Given the description of an element on the screen output the (x, y) to click on. 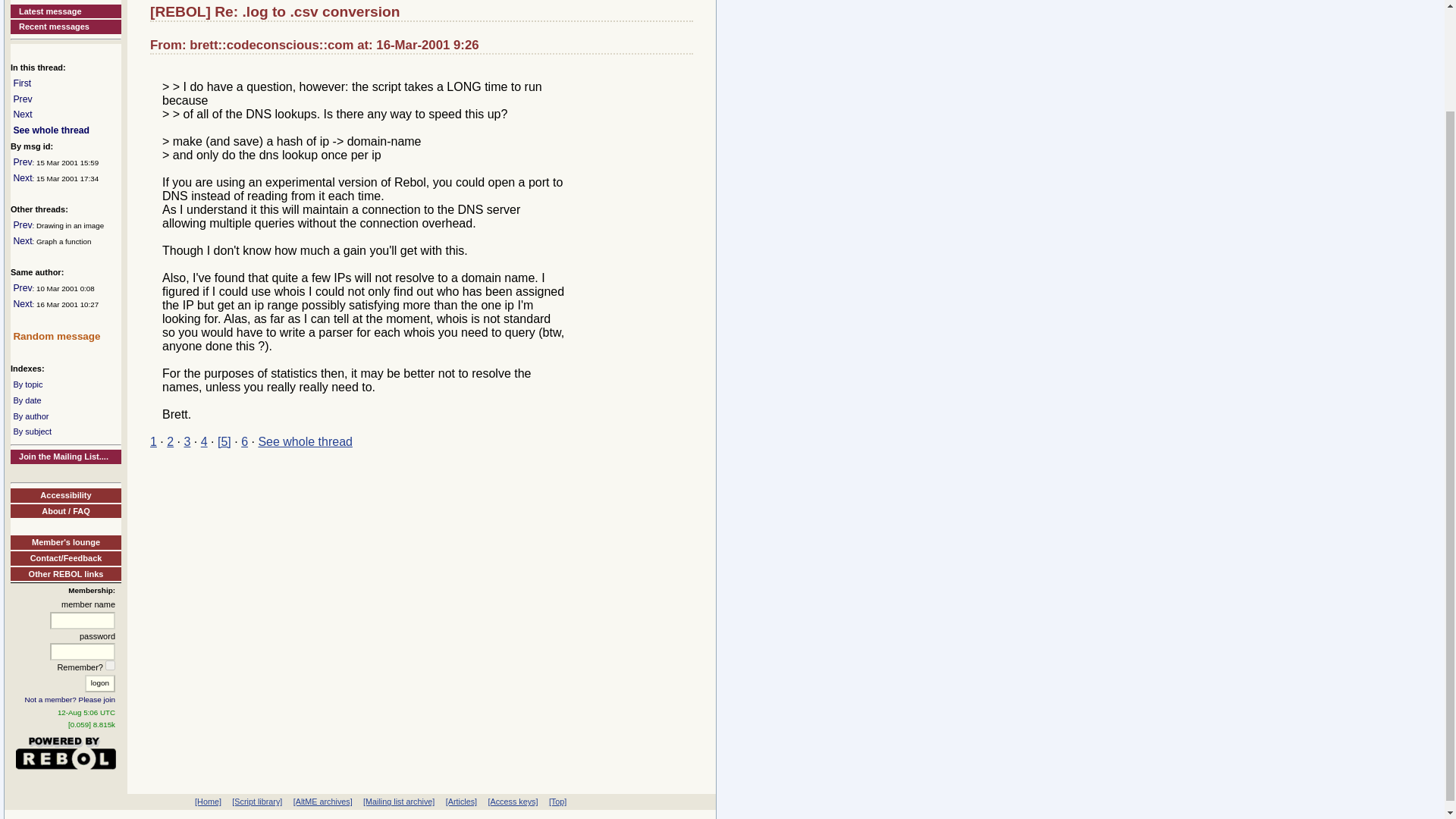
Next (22, 177)
Prev (22, 225)
Prev (22, 287)
logon (99, 683)
Next (22, 113)
Accessibility (65, 495)
Not a member? Please join (69, 699)
By subject (31, 430)
Next (22, 303)
By topic (27, 384)
